Given the description of an element on the screen output the (x, y) to click on. 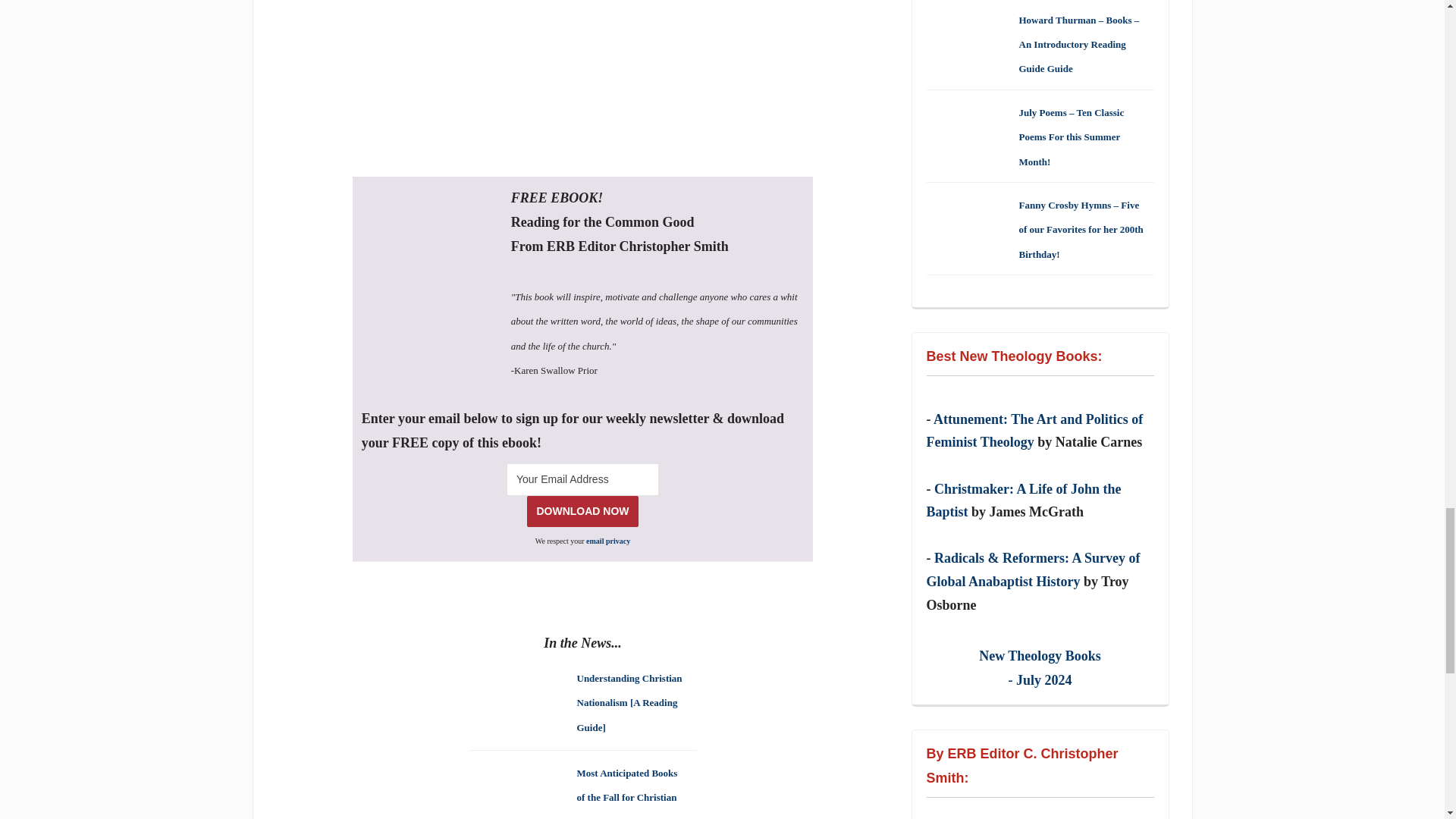
Privacy Policy (608, 541)
Most Anticipated Books of the Fall for Christian Readers! (626, 791)
DOWNLOAD NOW (582, 511)
Your Email Address (582, 479)
email privacy (608, 541)
DOWNLOAD NOW (582, 511)
